Given the description of an element on the screen output the (x, y) to click on. 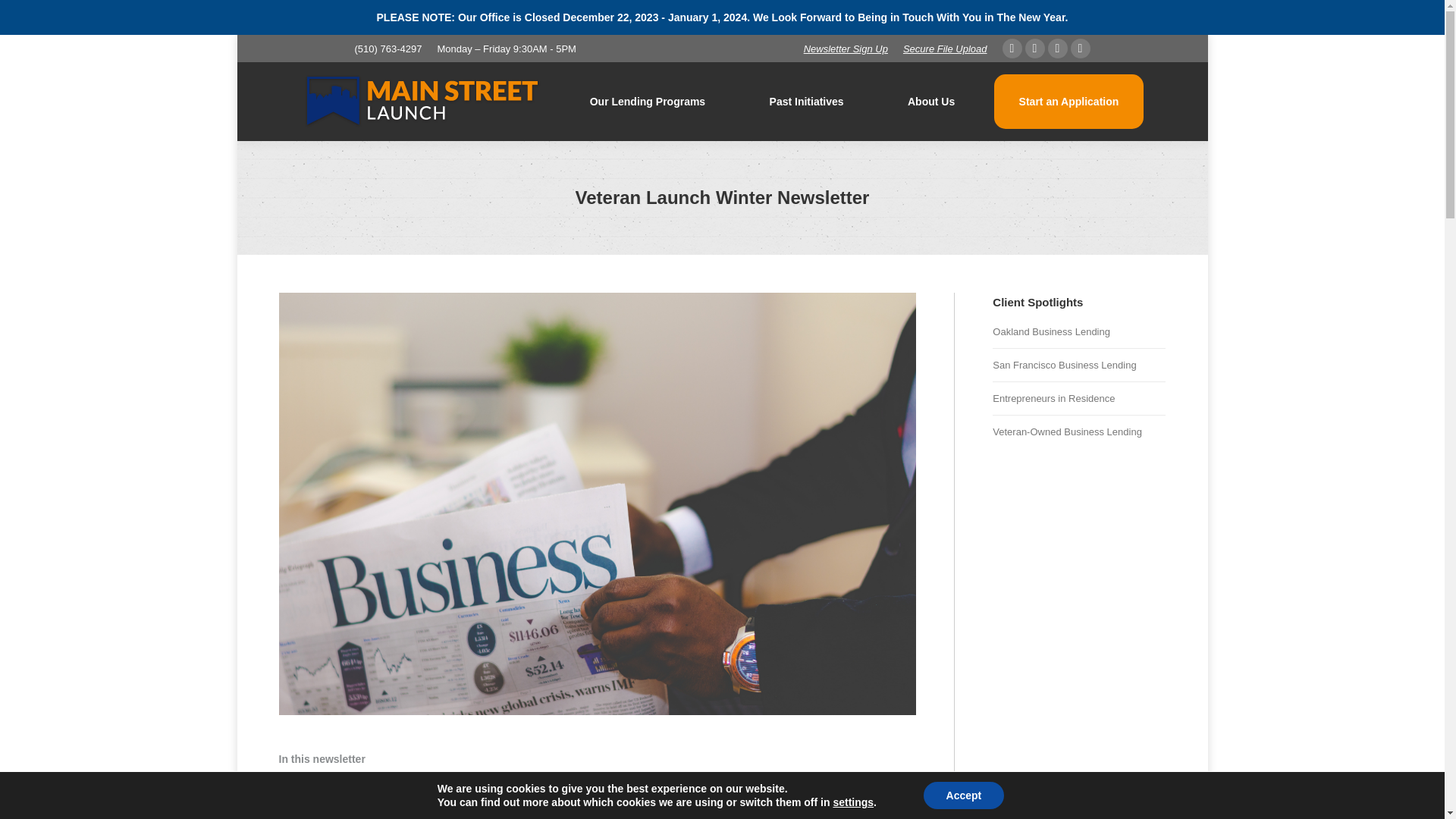
Start an Application (1068, 101)
Secure File Upload (944, 48)
Past Initiatives (805, 101)
About Us (931, 101)
Instagram page opens in new window (1057, 48)
X page opens in new window (1035, 48)
X page opens in new window (1035, 48)
Go! (24, 16)
Newsletter Sign Up (845, 48)
Linkedin page opens in new window (1080, 48)
Instagram page opens in new window (1057, 48)
Facebook page opens in new window (1012, 48)
Facebook page opens in new window (1012, 48)
Our Lending Programs (648, 101)
